Given the description of an element on the screen output the (x, y) to click on. 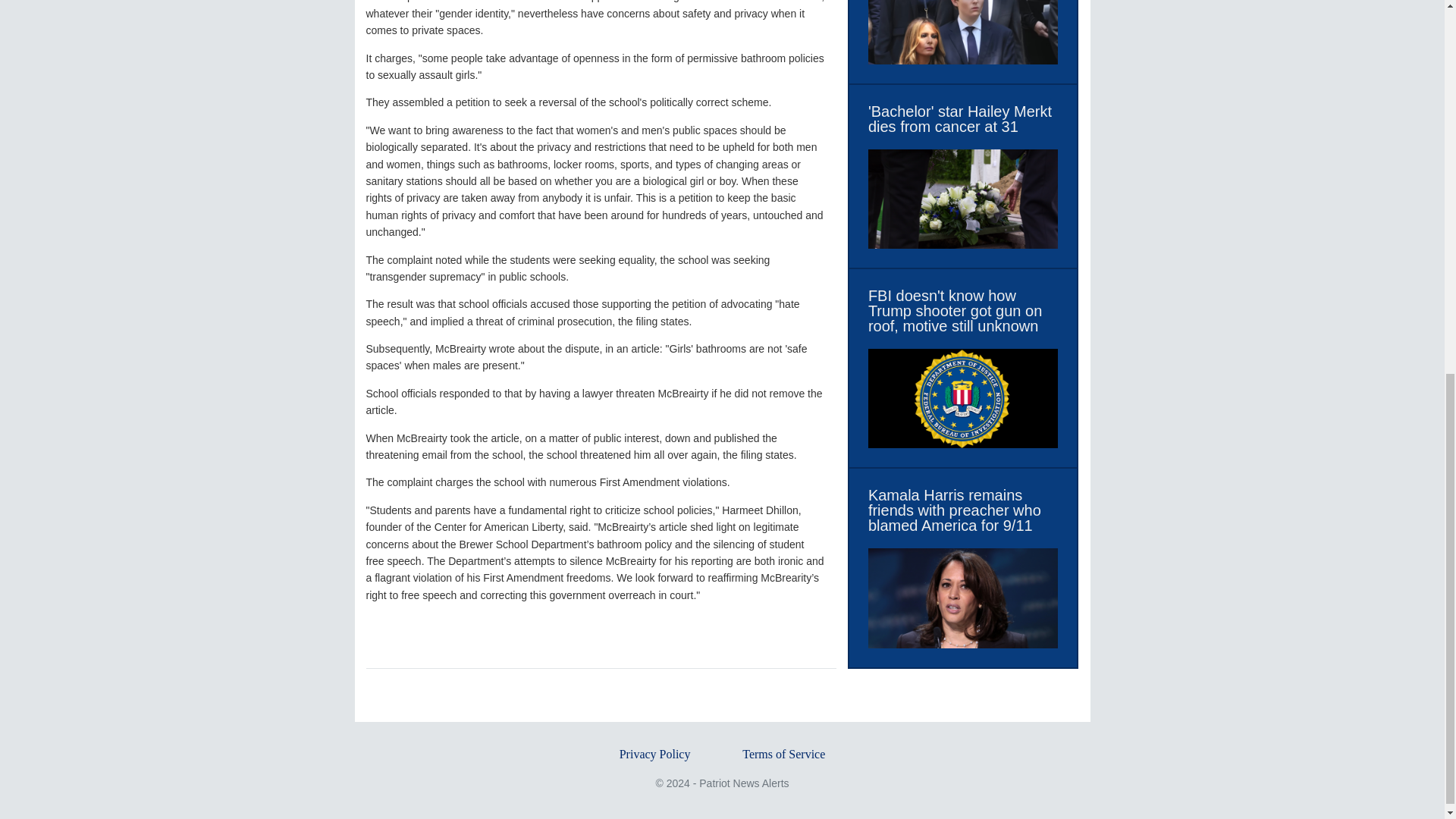
Terms of Service (783, 754)
'Bachelor' star Hailey Merkt dies from cancer at 31 (962, 119)
Privacy Policy (655, 754)
